Given the description of an element on the screen output the (x, y) to click on. 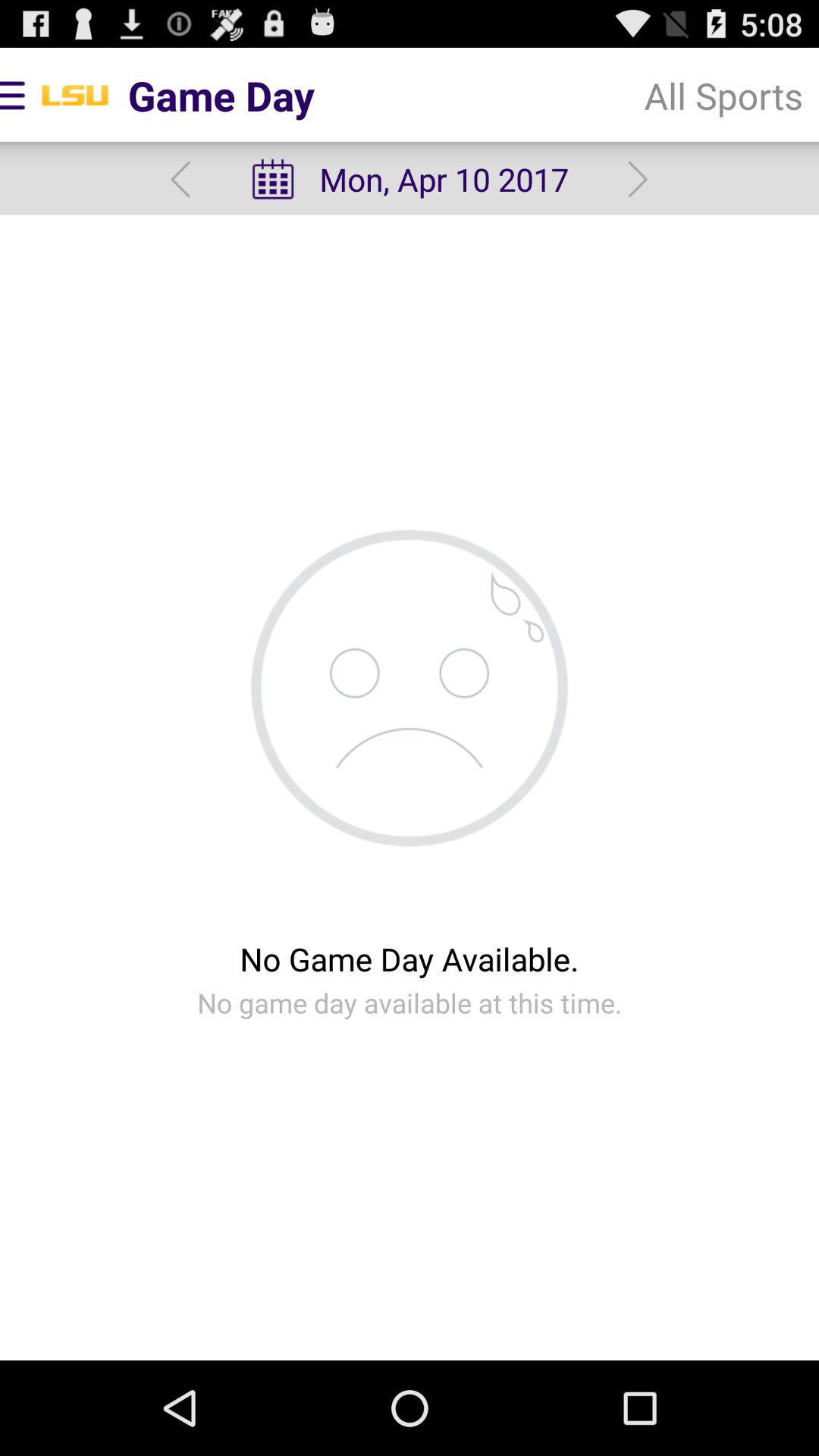
turn off the icon to the right of the mon apr 10 app (637, 178)
